Given the description of an element on the screen output the (x, y) to click on. 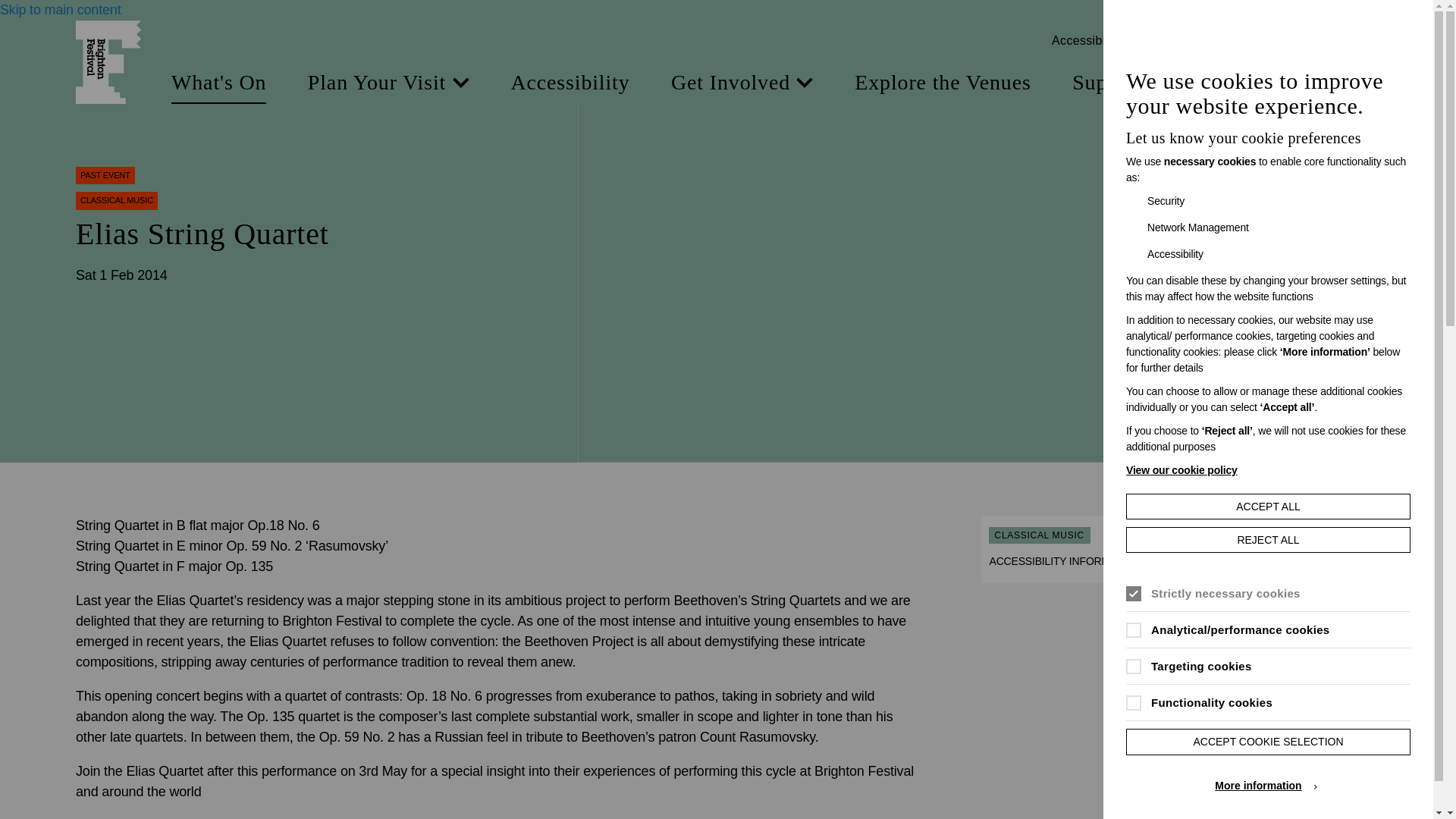
Skip to main content (60, 9)
Search (1335, 40)
What's On (218, 83)
Skip to main content (60, 9)
ACCESSIBILITY INFORMATION (1075, 561)
Get Involved (742, 83)
Support Us (1134, 83)
Festival News (1304, 83)
Festival News (1304, 83)
Accessibility (569, 83)
